Given the description of an element on the screen output the (x, y) to click on. 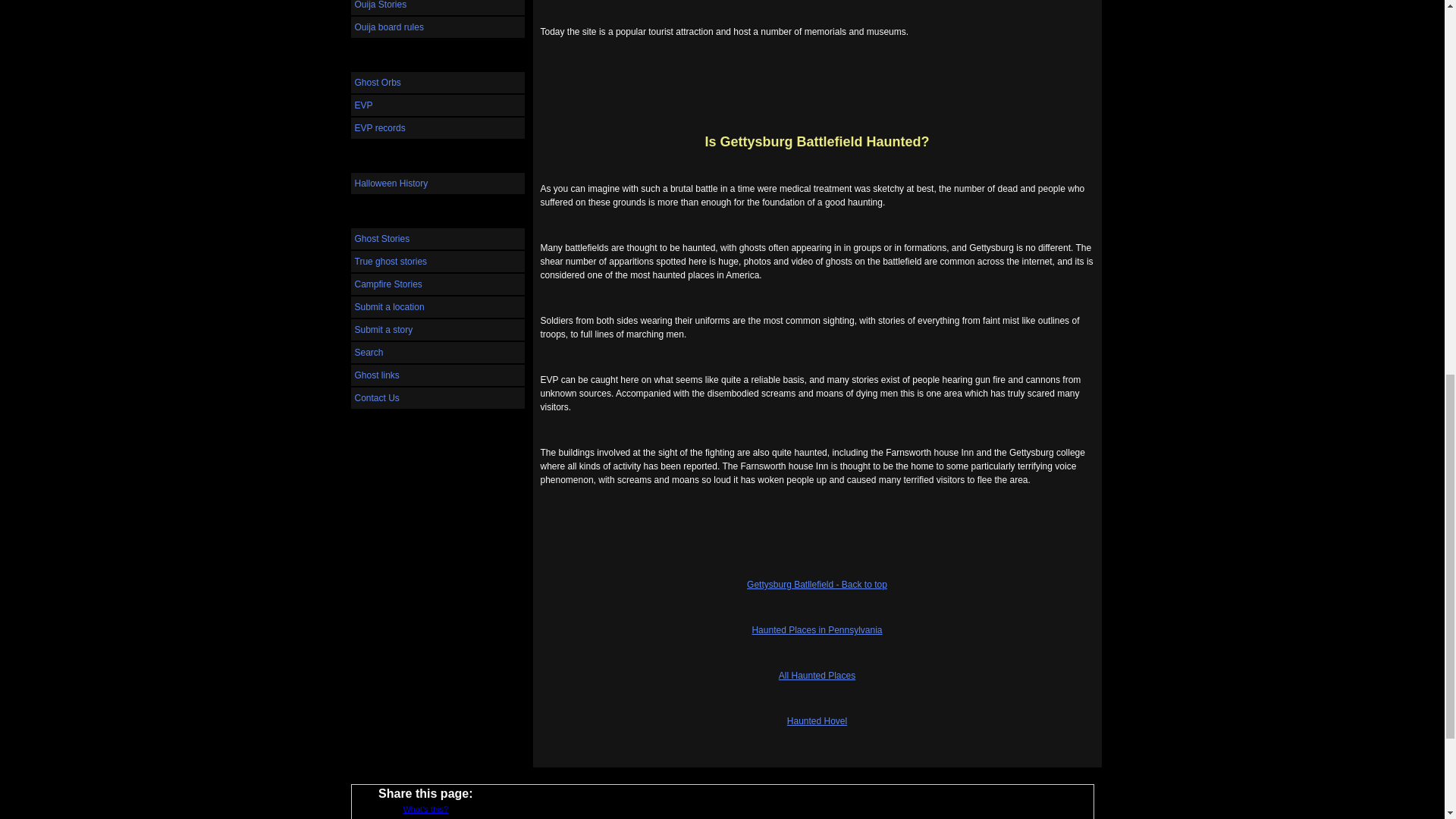
Campfire Stories (437, 283)
Submit a location (437, 306)
Haunted Places in Pennsylvania (816, 629)
Gettysburg Batllefield - Back to top (816, 584)
Haunted Hovel (817, 720)
Halloween History (437, 183)
All Haunted Places (817, 675)
Submit a story (437, 329)
Ghost Orbs (437, 82)
Search (437, 352)
Ghost Stories (437, 238)
Ouija Stories (437, 7)
Ouija board rules (437, 26)
EVP (437, 105)
Ghost links (437, 374)
